Given the description of an element on the screen output the (x, y) to click on. 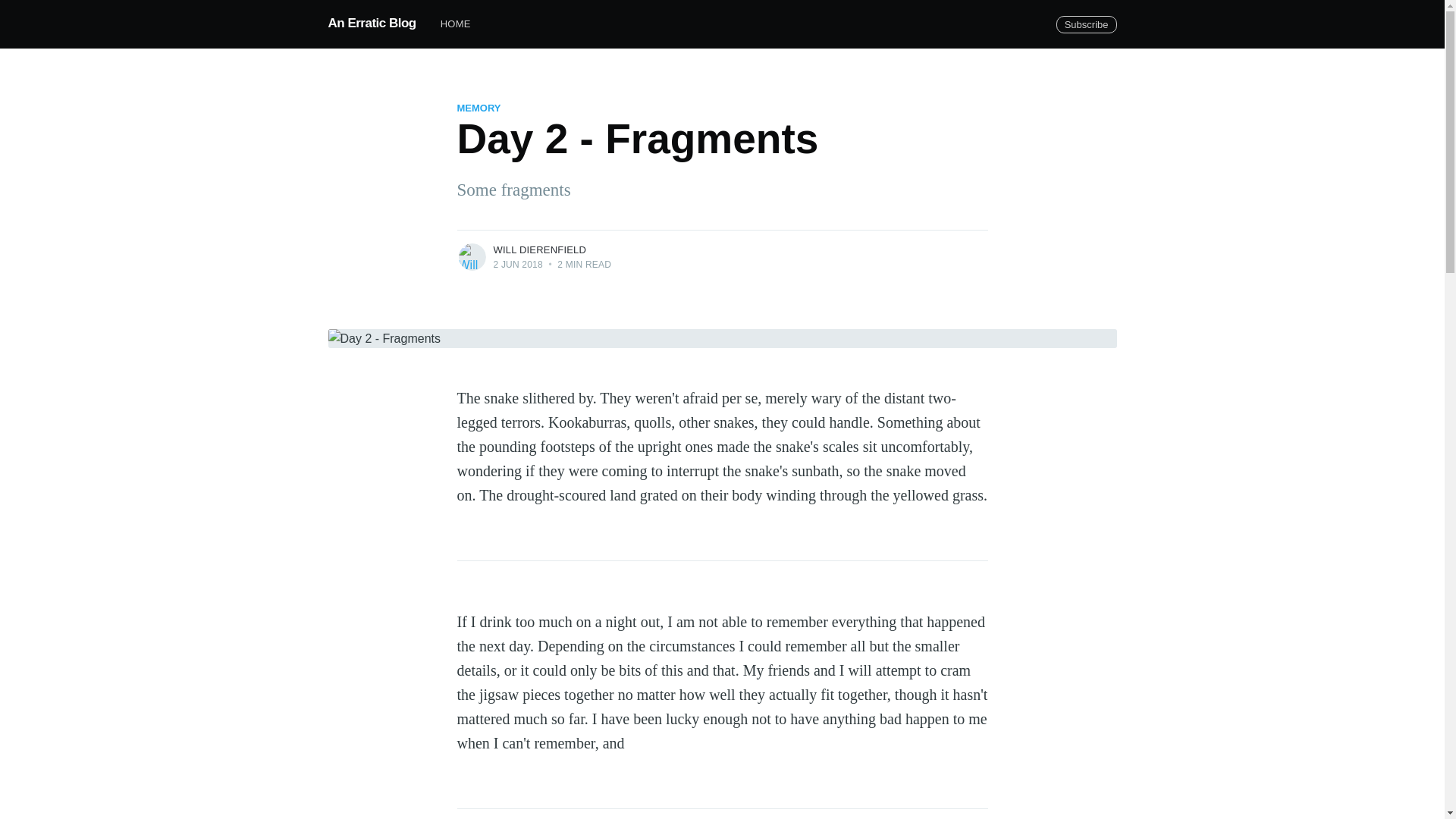
WILL DIERENFIELD (539, 249)
Subscribe (1086, 23)
An Erratic Blog (370, 23)
MEMORY (478, 108)
HOME (455, 24)
